Given the description of an element on the screen output the (x, y) to click on. 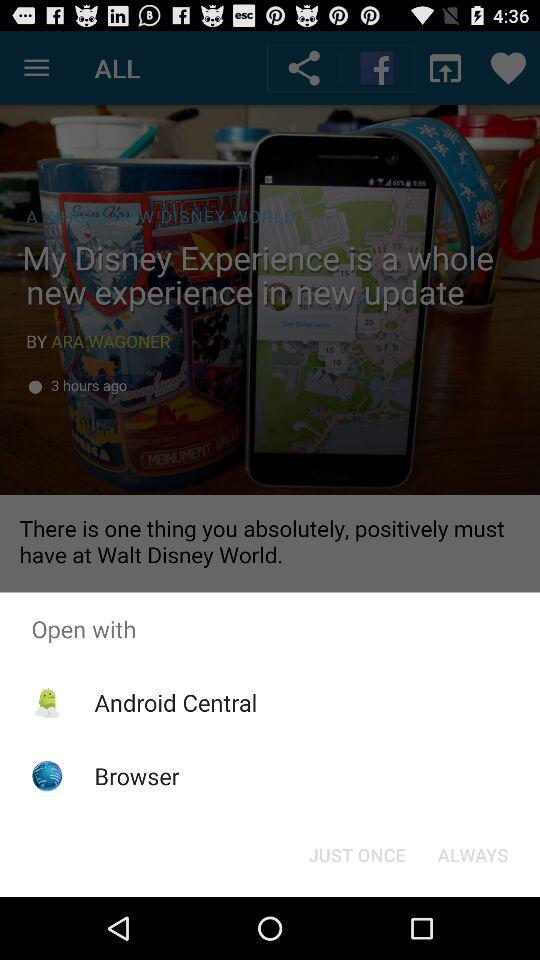
swipe until just once (356, 854)
